Given the description of an element on the screen output the (x, y) to click on. 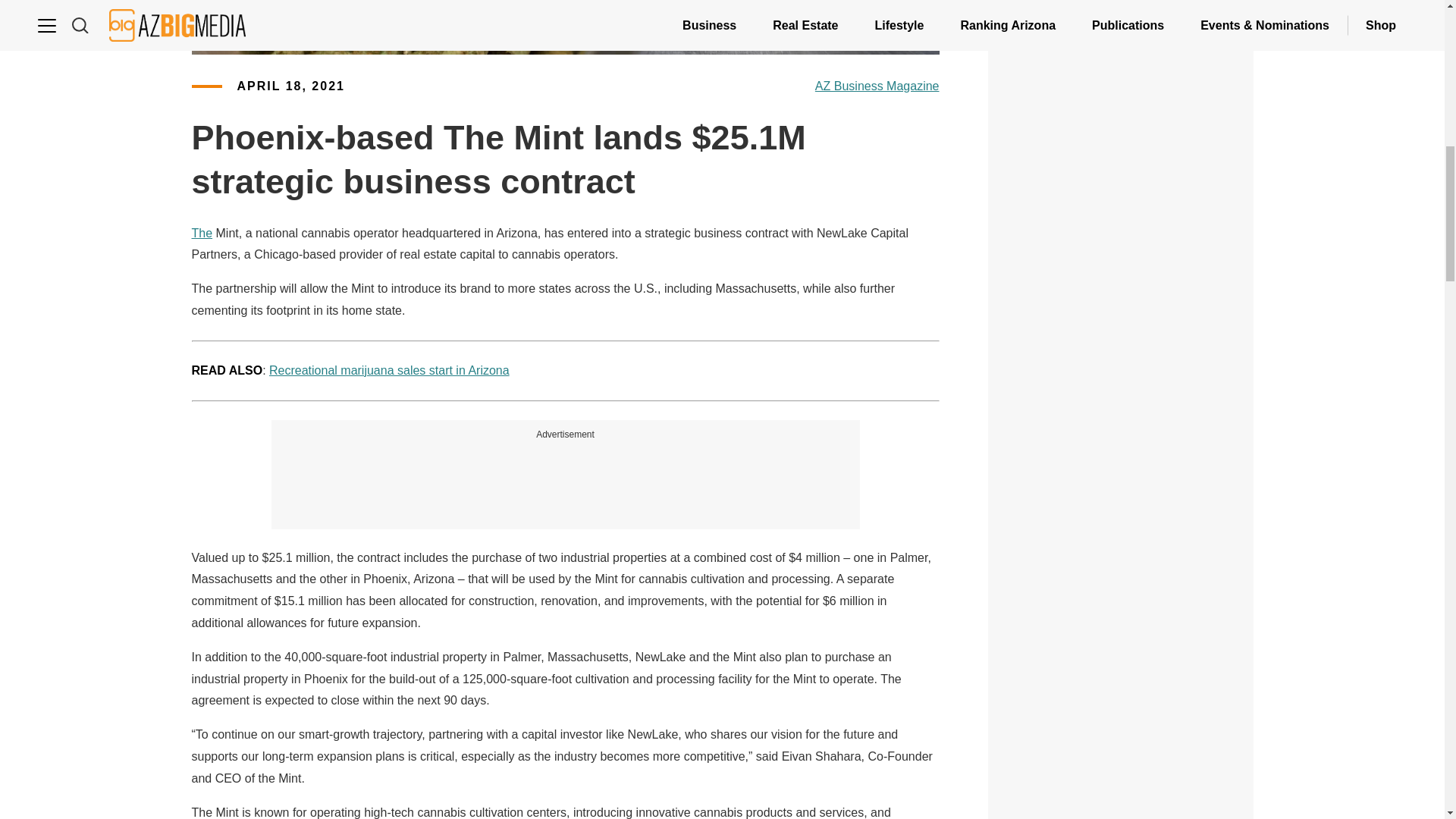
3rd party ad content (1120, 729)
3rd party ad content (565, 477)
3rd party ad content (1120, 5)
3rd party ad content (1120, 525)
Posts by AZ Business Magazine (877, 86)
